Given the description of an element on the screen output the (x, y) to click on. 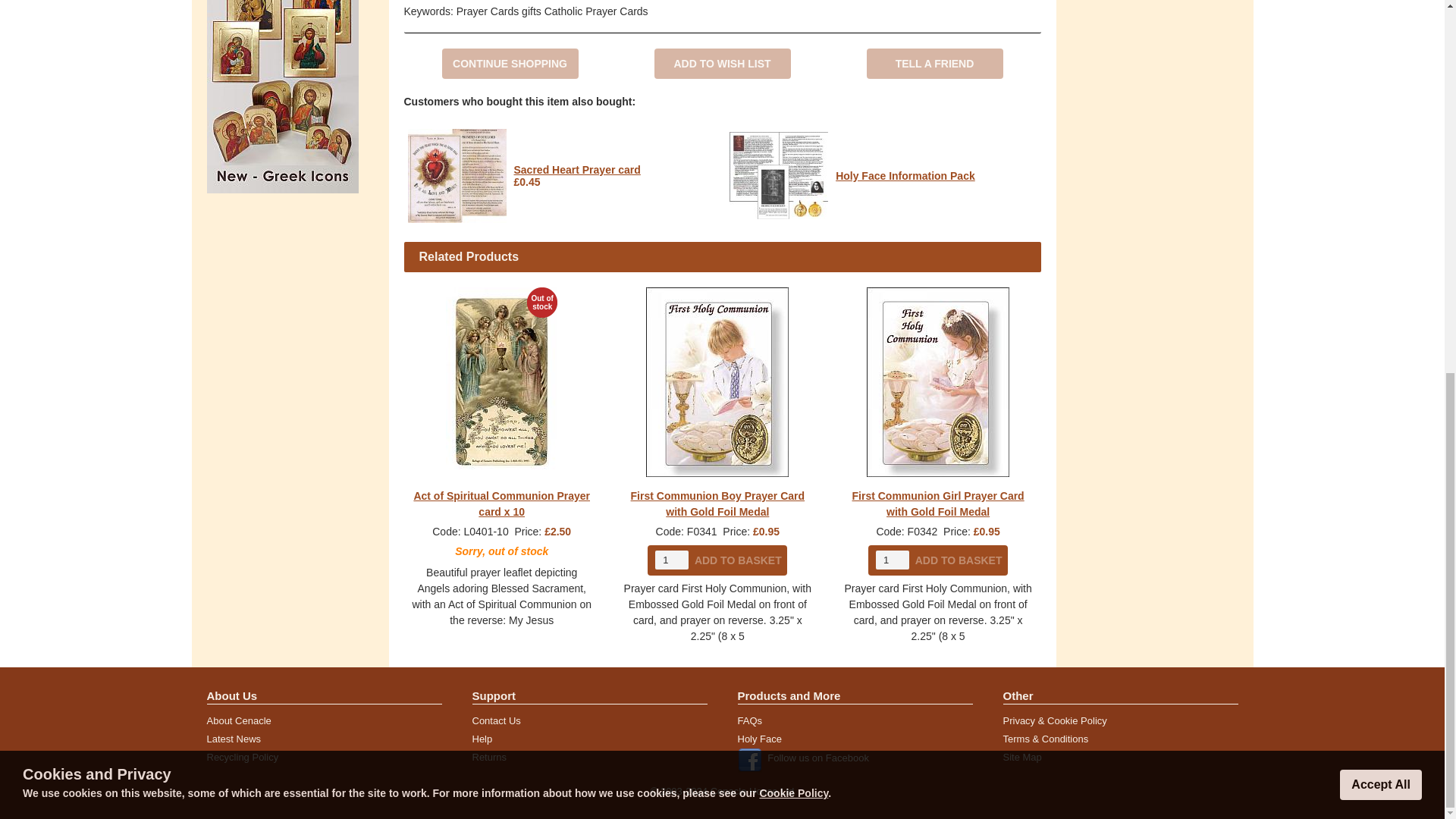
Sacred Heart Prayer card (576, 169)
CONTINUE SHOPPING (509, 63)
1 (671, 559)
ADD TO WISH LIST (721, 63)
Act of Spiritual Communion Prayer card x 10 (501, 503)
Holy Face Information Pack (905, 175)
TELL A FRIEND (934, 63)
1 (892, 559)
